Given the description of an element on the screen output the (x, y) to click on. 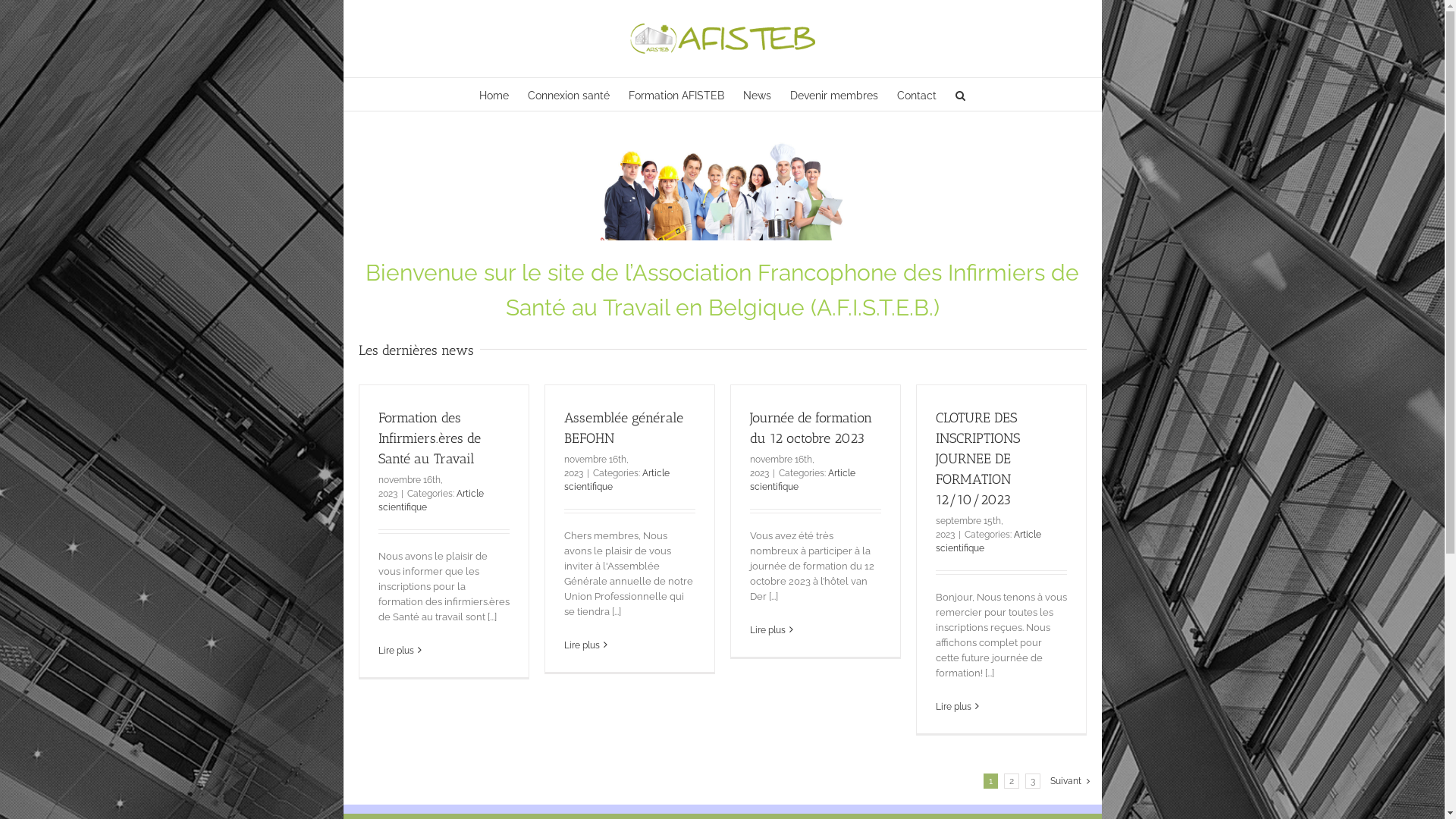
3 Element type: text (1032, 780)
Article scientifique Element type: text (430, 500)
Lire plus Element type: text (395, 650)
Lire plus Element type: text (581, 645)
Devenir membres Element type: text (834, 94)
Article scientifique Element type: text (616, 479)
Lire plus Element type: text (953, 706)
Contact Element type: text (916, 94)
2 Element type: text (1011, 780)
Lire plus Element type: text (766, 629)
Formation AFISTEB Element type: text (676, 94)
Home Element type: text (493, 94)
Suivant Element type: text (1065, 780)
Article scientifique Element type: text (801, 479)
News Element type: text (757, 94)
CLOTURE DES INSCRIPTIONS JOURNEE DE FORMATION 12/10/2023 Element type: text (977, 458)
Article scientifique Element type: text (988, 541)
